Given the description of an element on the screen output the (x, y) to click on. 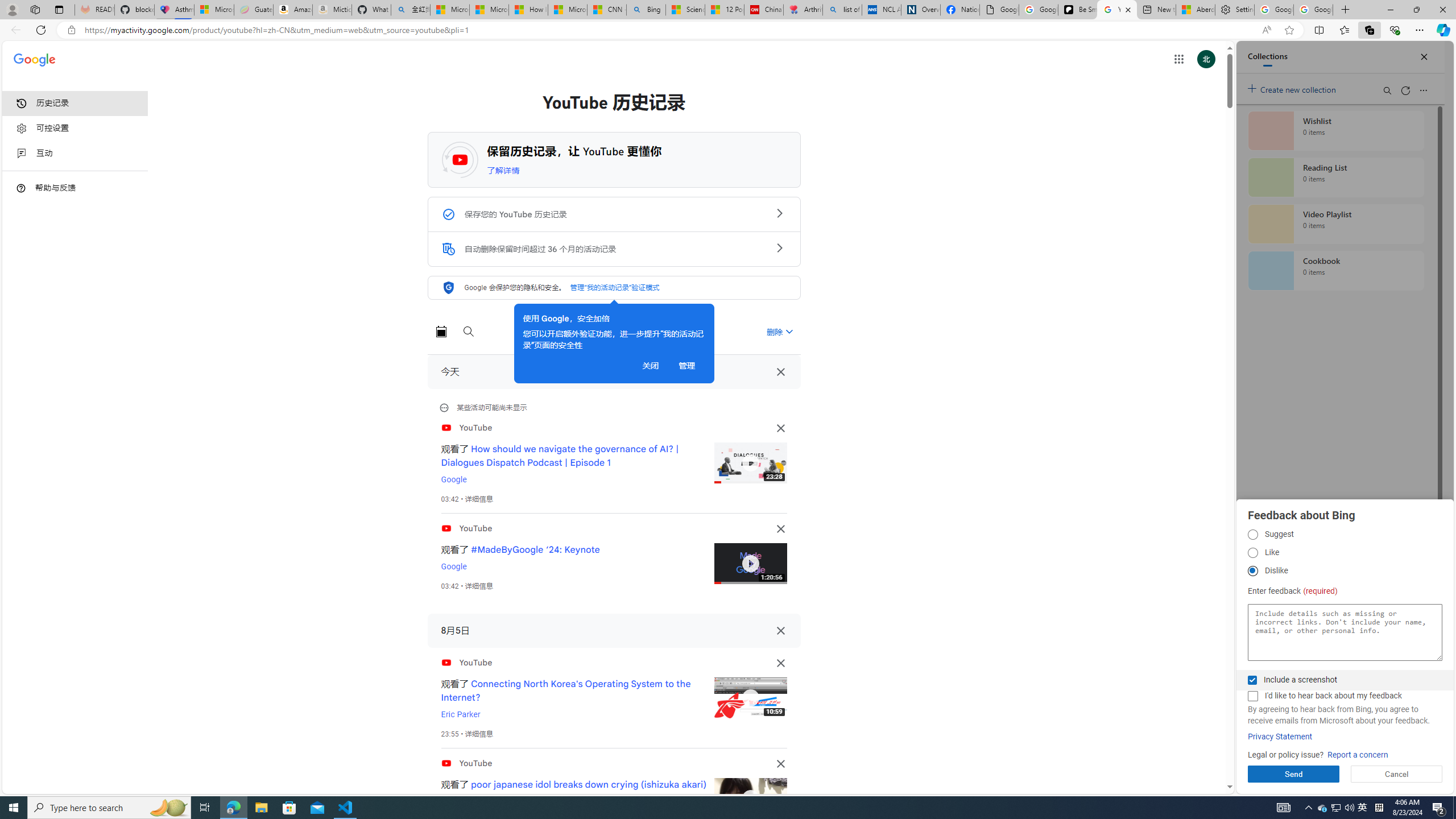
Cancel (1396, 773)
AutomationID: fbpgdgsschk (1251, 679)
Dislike Dislike (1252, 570)
poor japanese idol breaks down crying (ishizuka akari) (588, 784)
Class: TjcpUd NMm5M (780, 763)
